Given the description of an element on the screen output the (x, y) to click on. 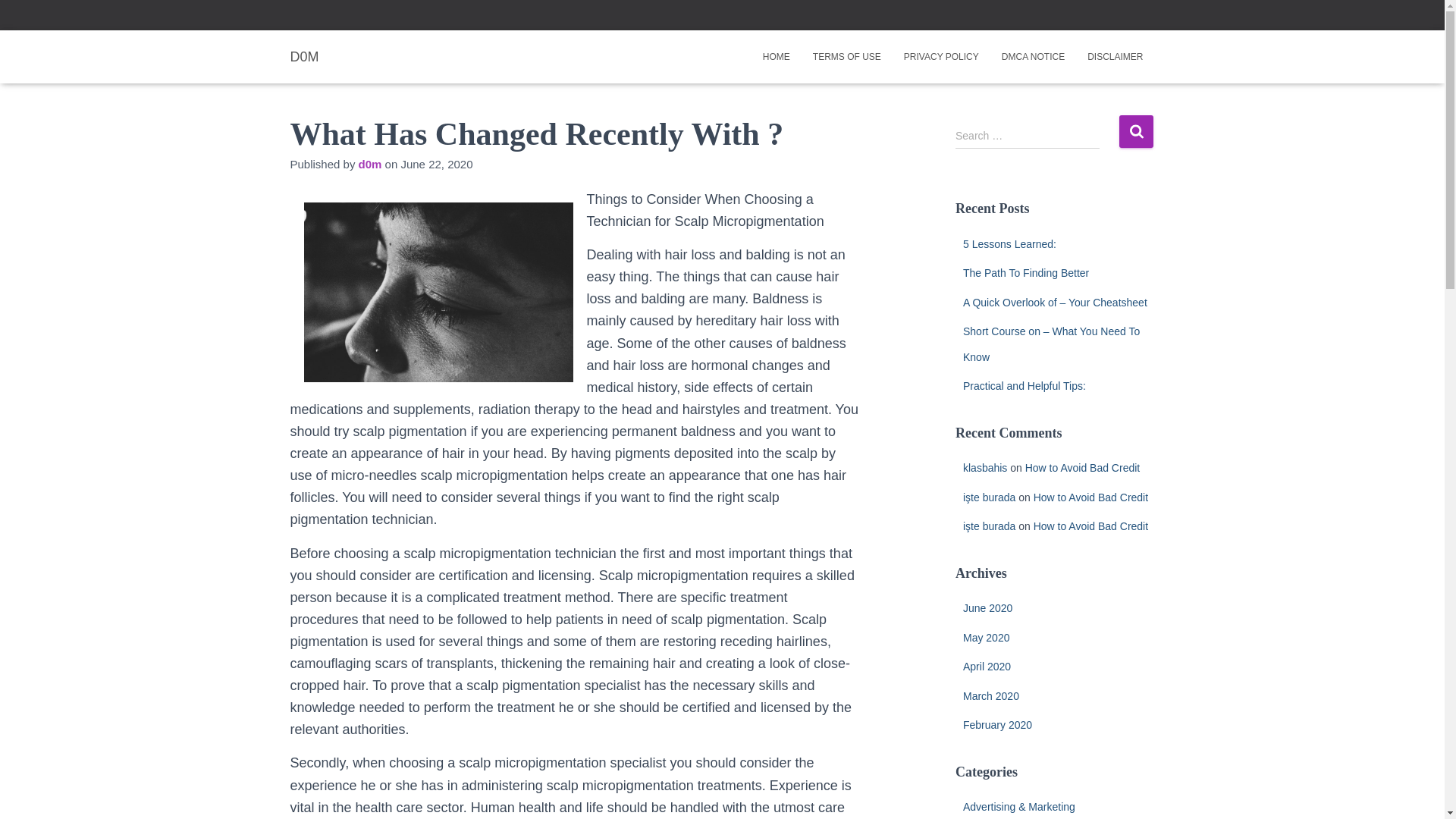
Disclaimer (1114, 56)
Practical and Helpful Tips: (1024, 386)
DISCLAIMER (1114, 56)
February 2020 (997, 725)
How to Avoid Bad Credit (1090, 526)
Search (1136, 131)
D0M (304, 56)
How to Avoid Bad Credit (1082, 467)
Terms Of Use (847, 56)
klasbahis (984, 467)
